Given the description of an element on the screen output the (x, y) to click on. 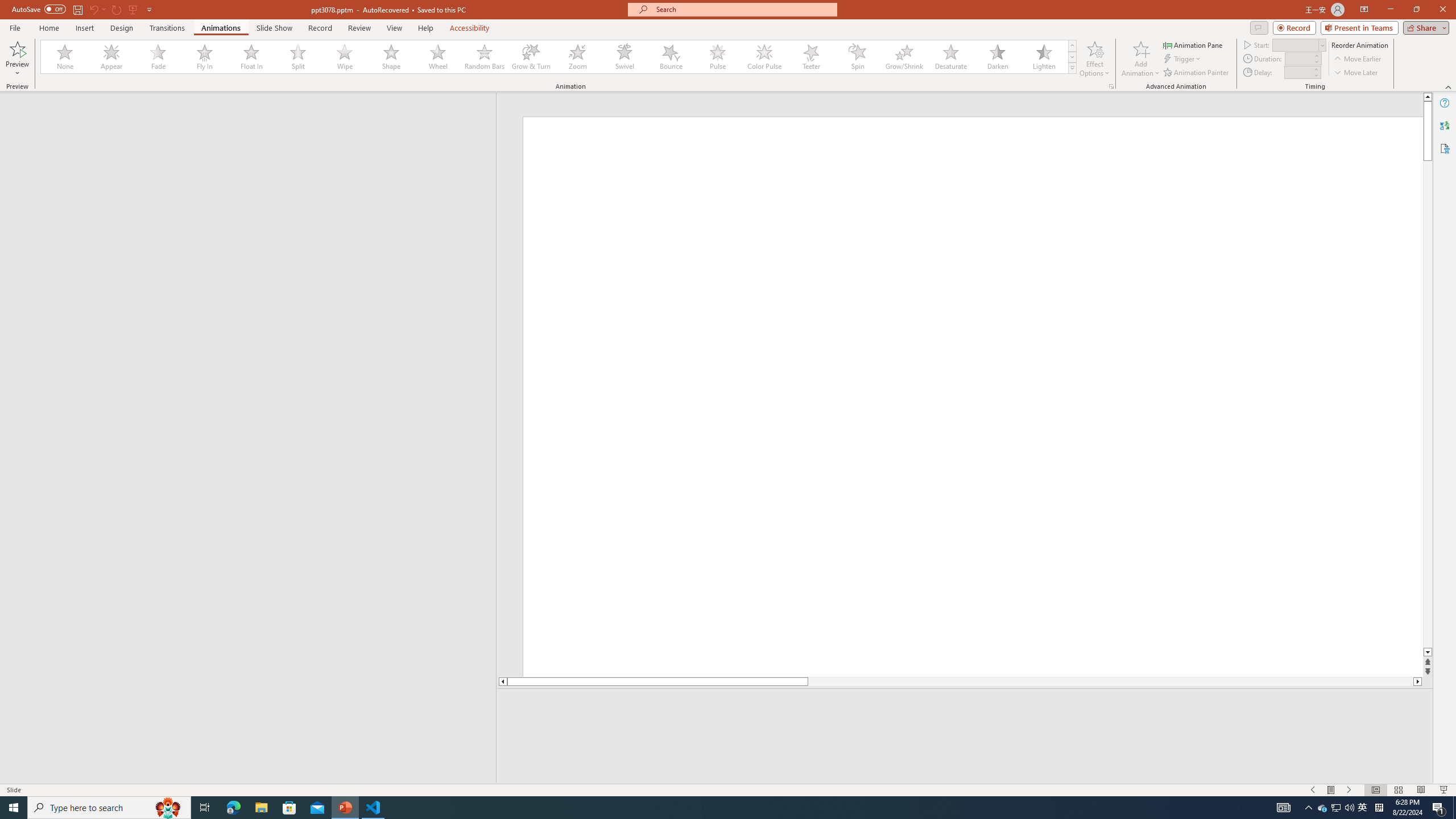
Close (1442, 9)
System (6, 6)
Comments (1259, 27)
Customize Quick Access Toolbar (149, 9)
Desaturate (950, 56)
View (395, 28)
Insert (83, 28)
Slide Show (273, 28)
Wheel (437, 56)
System (6, 6)
Slide Show Previous On (1313, 790)
Home (48, 28)
Ribbon Display Options (1364, 9)
